Given the description of an element on the screen output the (x, y) to click on. 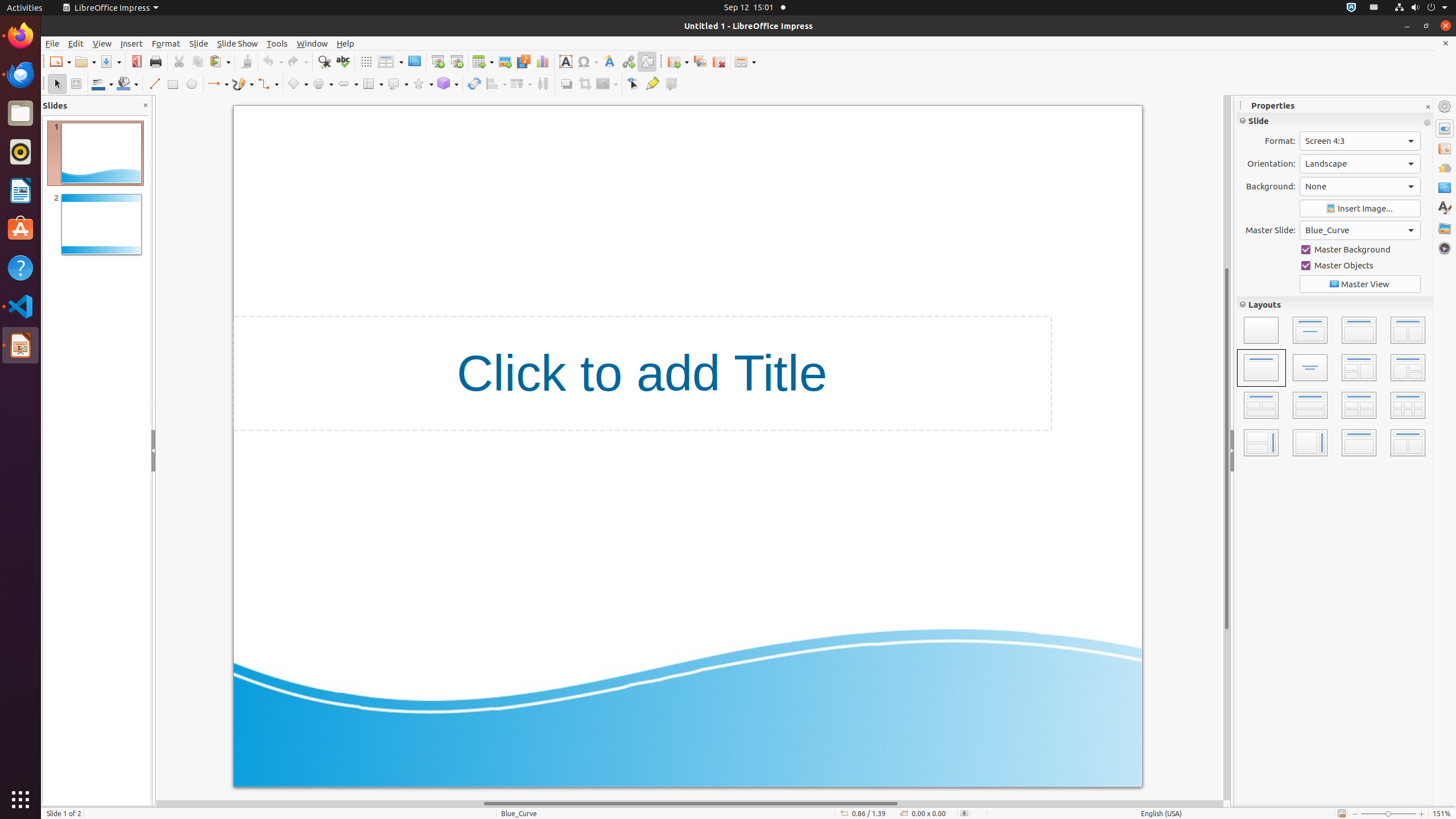
Filter Element type: push-button (606, 83)
PDF Element type: push-button (136, 61)
Find & Replace Element type: toggle-button (323, 61)
Arrange Element type: push-button (520, 83)
